Given the description of an element on the screen output the (x, y) to click on. 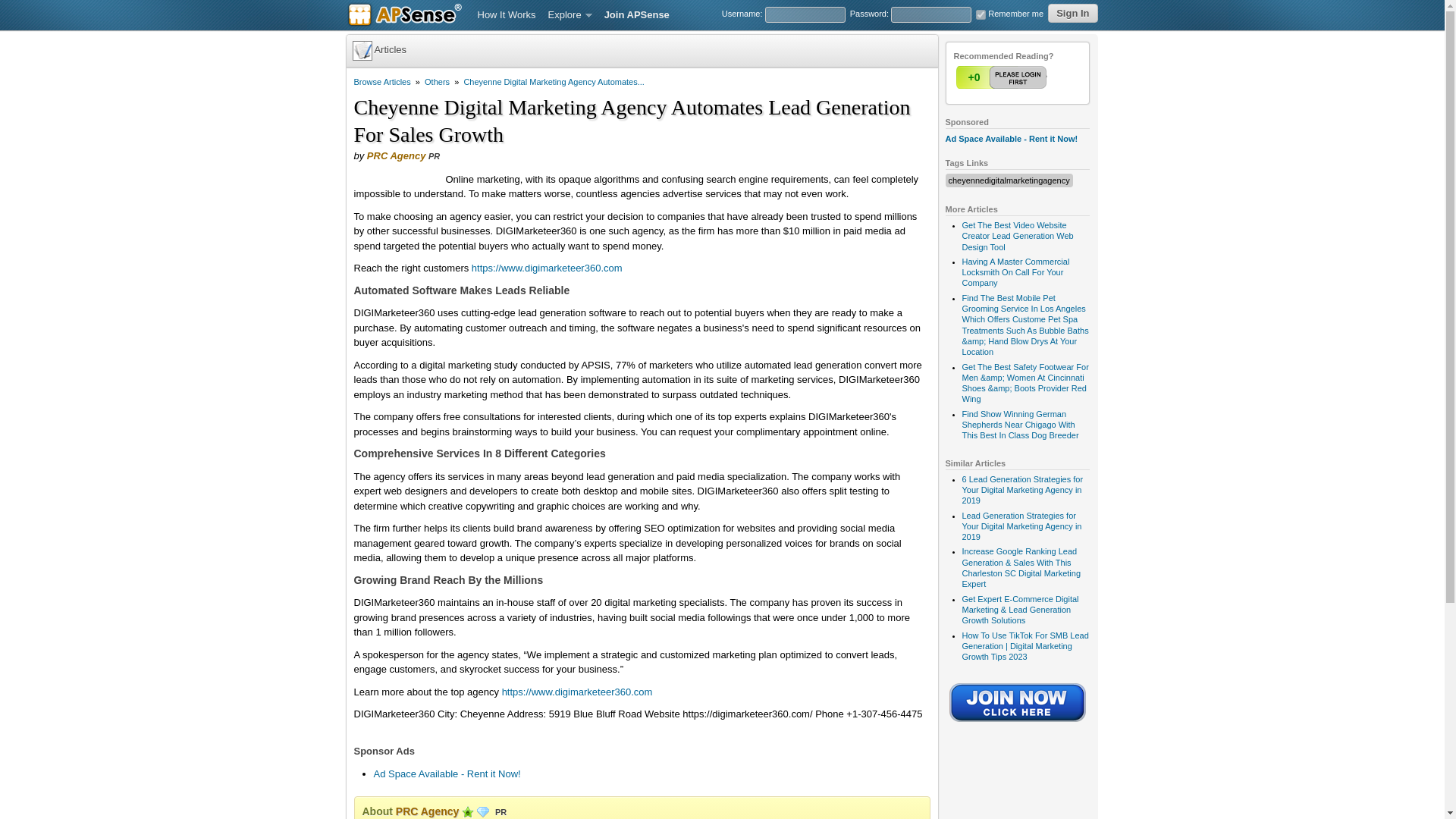
Others (437, 81)
Ad Space Available - Rent it Now! (1010, 138)
Cheyenne Digital Marketing Agency Automates... (553, 81)
PRC Agency (428, 811)
Committed (467, 811)
Join APSense (636, 15)
